Given the description of an element on the screen output the (x, y) to click on. 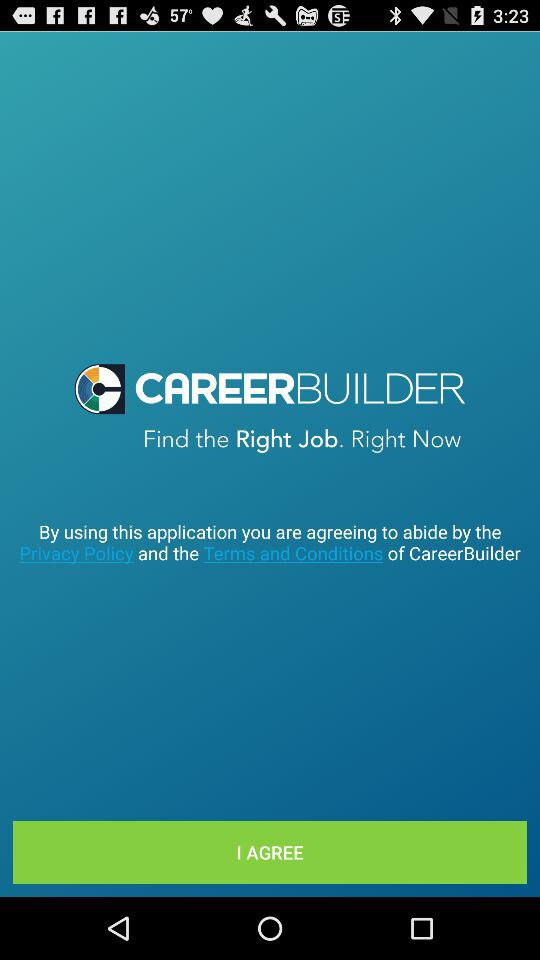
turn off item below by using this icon (269, 851)
